Given the description of an element on the screen output the (x, y) to click on. 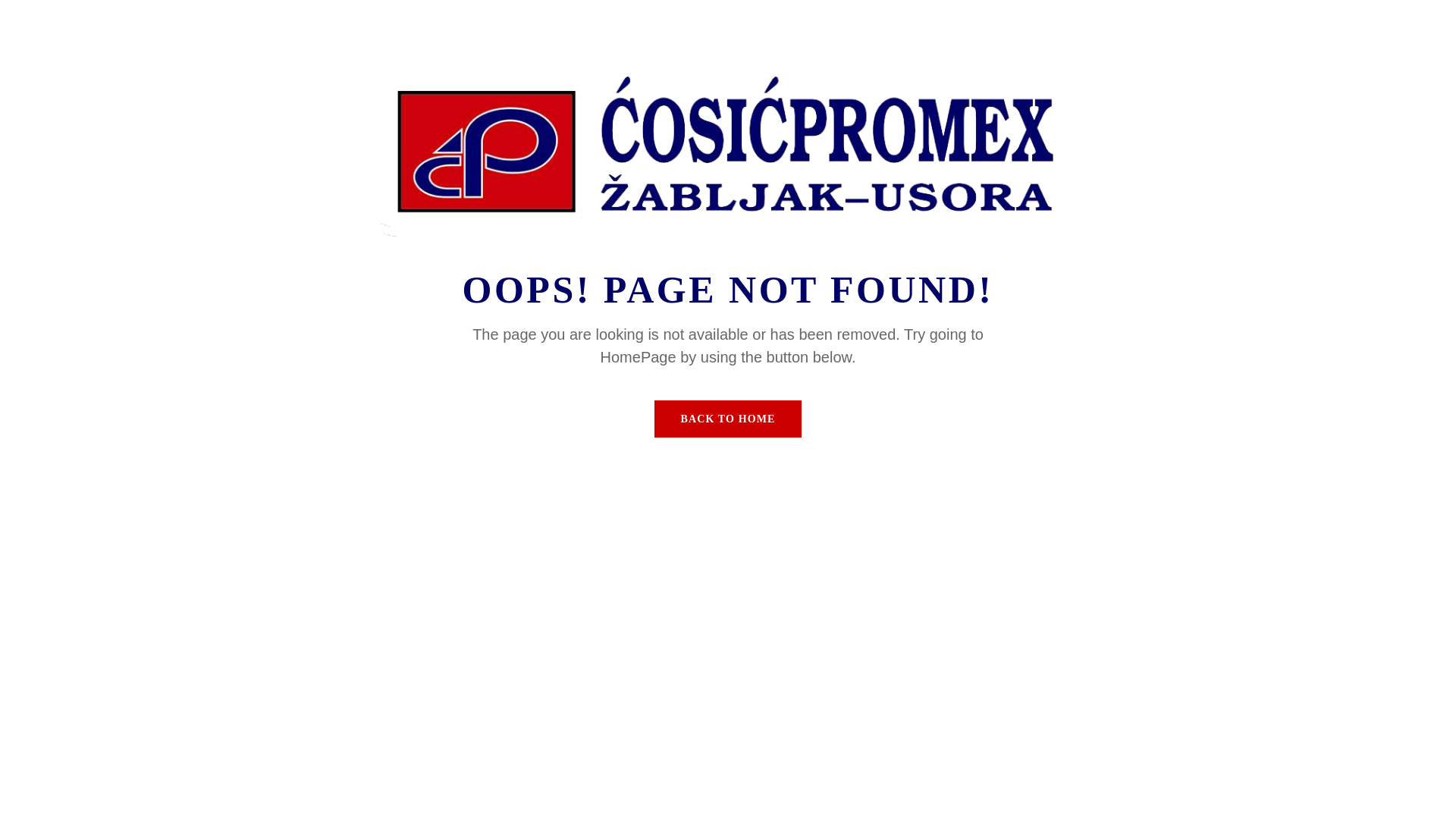
BACK TO HOME Element type: text (728, 418)
